Given the description of an element on the screen output the (x, y) to click on. 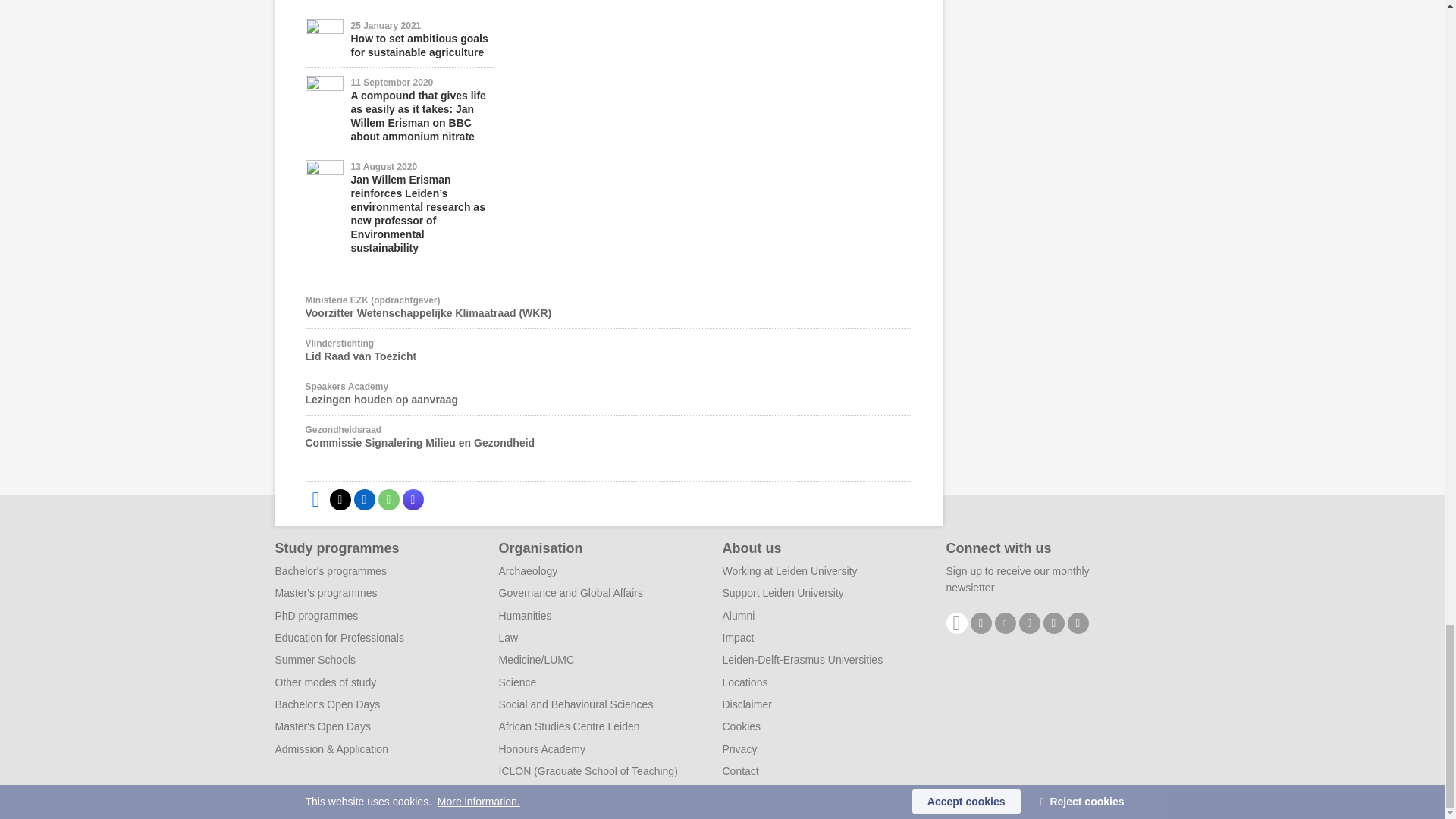
Share on LinkedIn (363, 499)
Share by WhatsApp (387, 499)
Share on X (339, 499)
Share on Facebook (315, 499)
Share by Mastodon (412, 499)
